Given the description of an element on the screen output the (x, y) to click on. 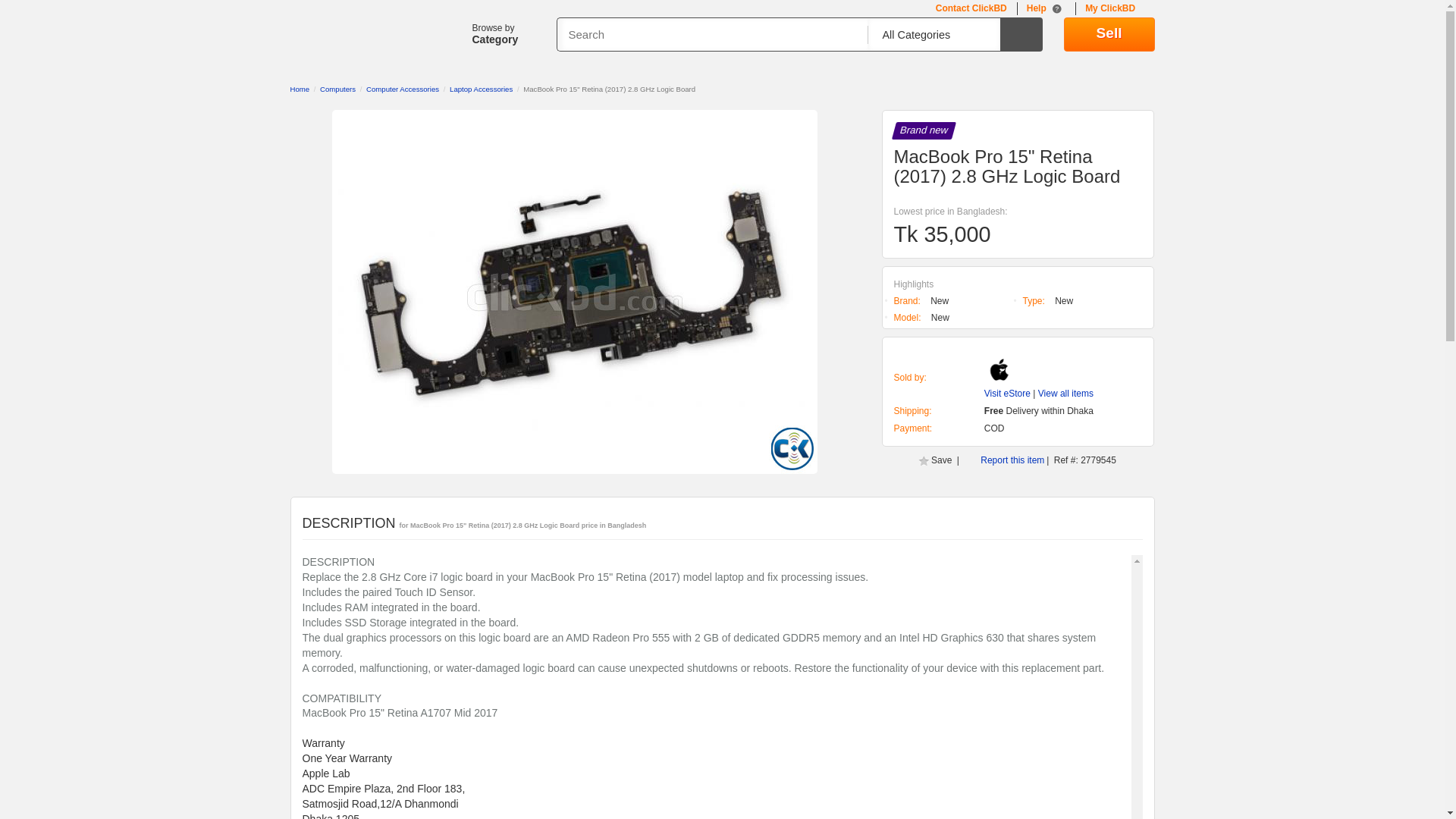
All Categories (927, 34)
Sell (1108, 34)
search (1020, 34)
View all items (1065, 393)
Computers (337, 89)
search (1020, 34)
Home (298, 89)
Laptop Accessories (480, 89)
ClickBD.com, The Largest E-commerce Site in Bangladesh (344, 37)
Contact ClickBD (971, 8)
Computer Accessories (402, 89)
Report this item (1011, 460)
Visit eStore (1007, 393)
Help (1045, 8)
